Given the description of an element on the screen output the (x, y) to click on. 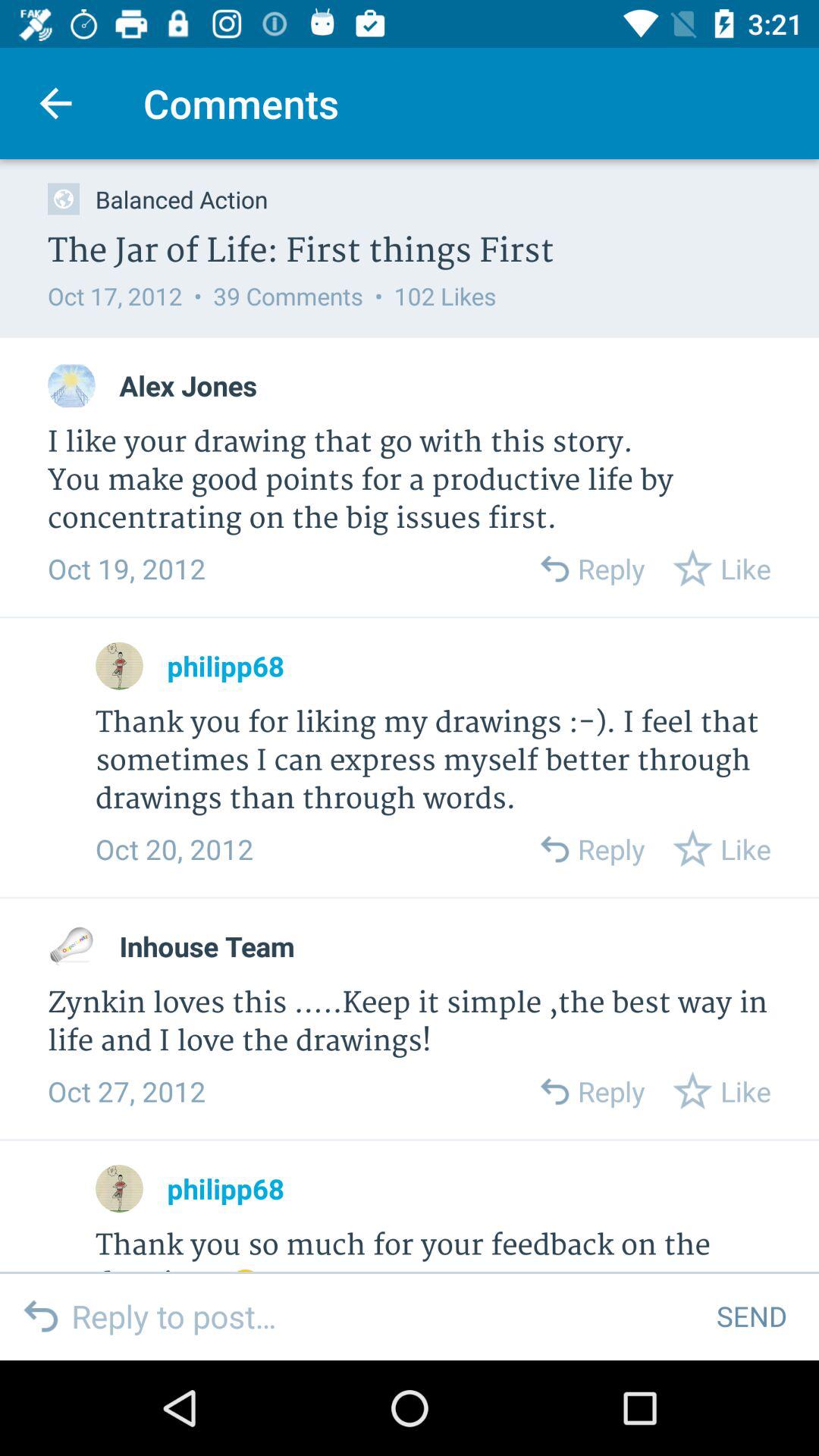
jump until the send (751, 1315)
